Given the description of an element on the screen output the (x, y) to click on. 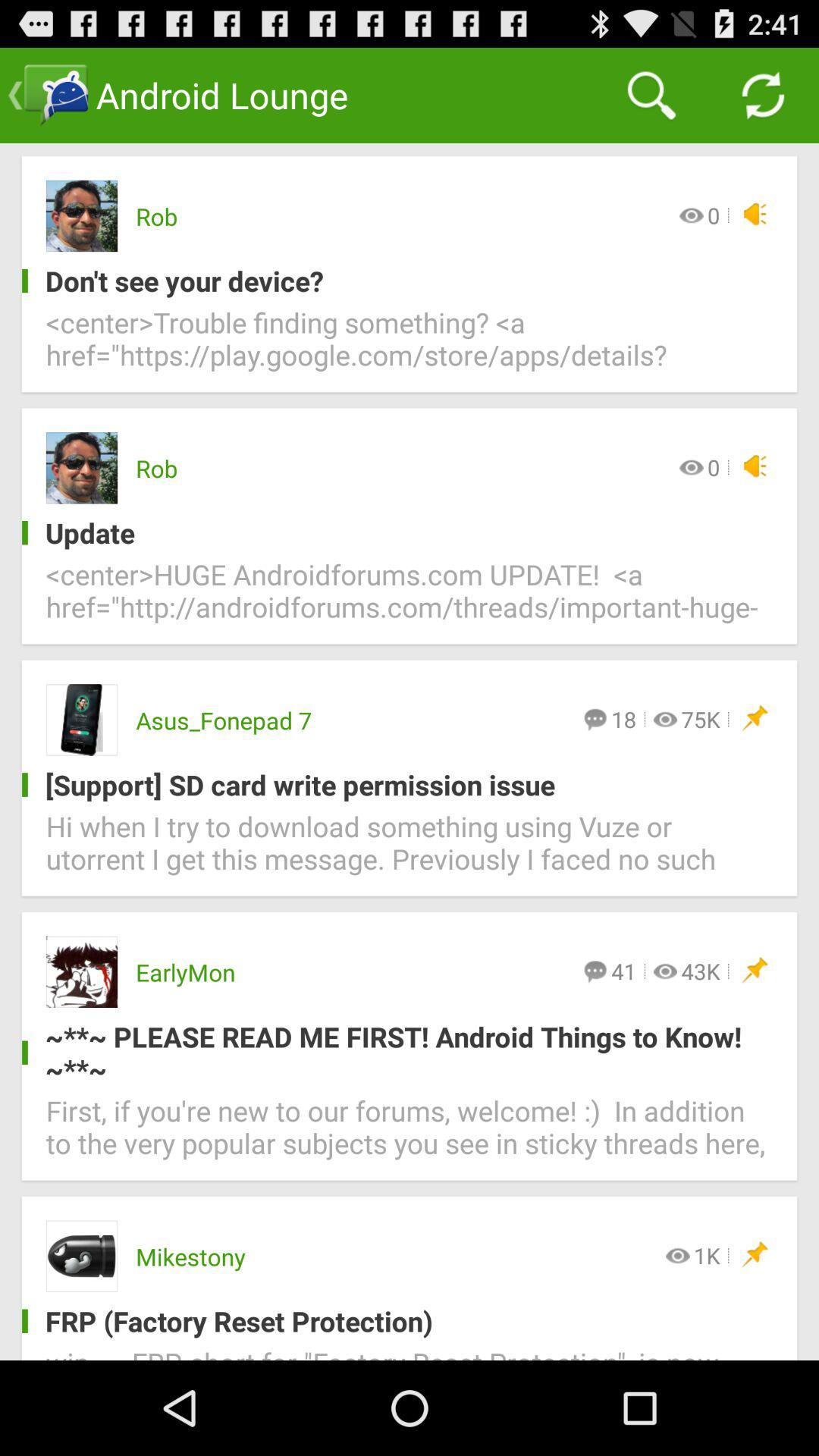
launch icon below please read me (409, 1136)
